Given the description of an element on the screen output the (x, y) to click on. 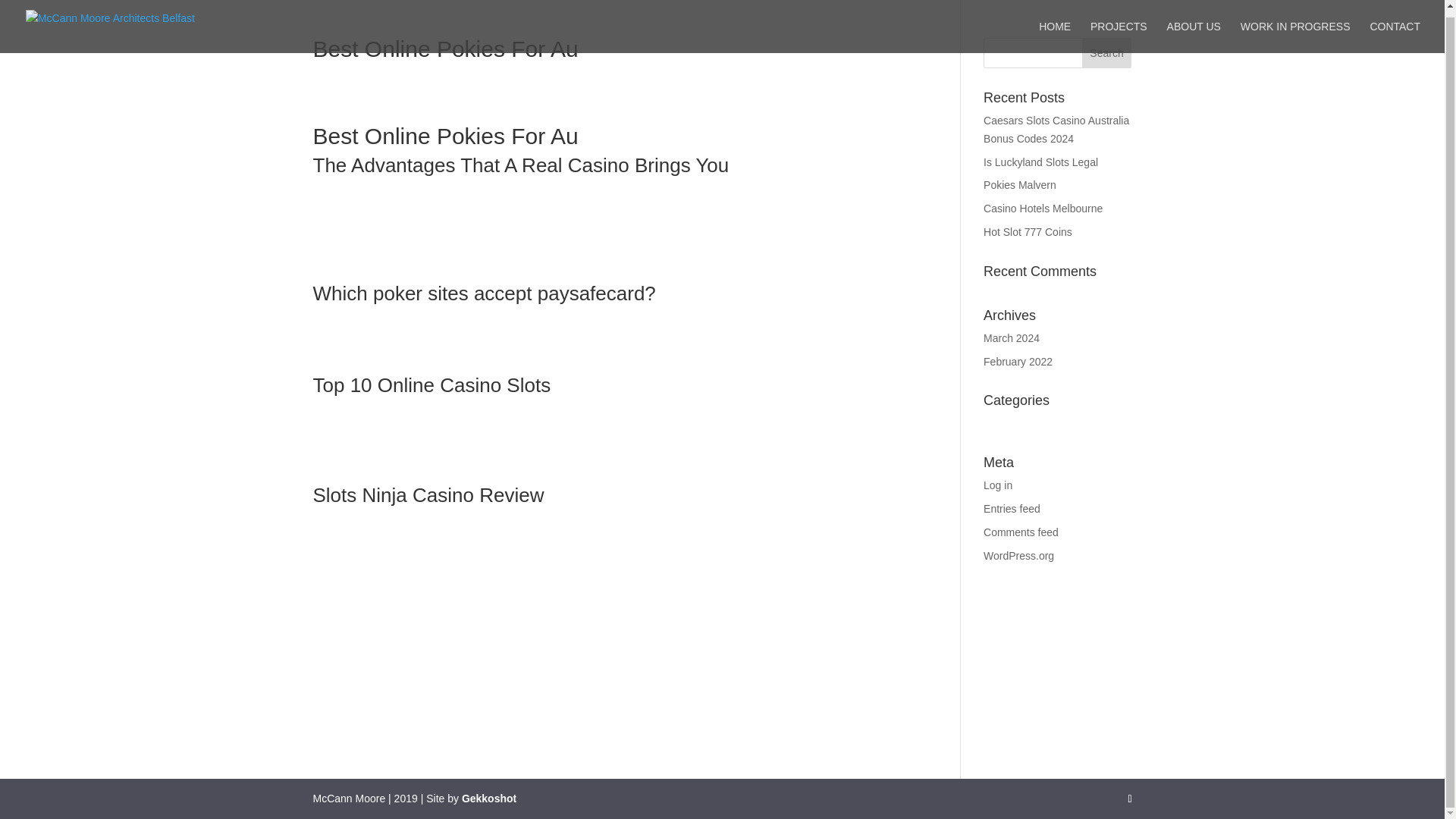
Casino Hotels Melbourne (1043, 208)
Hot Slot 777 Coins (1027, 232)
HOME (1054, 30)
Entries feed (1012, 508)
February 2022 (1018, 361)
Pokies Malvern (1020, 184)
PROJECTS (1118, 30)
Caesars Slots Casino Australia Bonus Codes 2024 (1056, 129)
WordPress.org (1019, 555)
Log in (997, 485)
ABOUT US (1194, 30)
CONTACT (1395, 30)
Gekkoshot (488, 798)
Comments feed (1021, 532)
Is Luckyland Slots Legal (1040, 162)
